Given the description of an element on the screen output the (x, y) to click on. 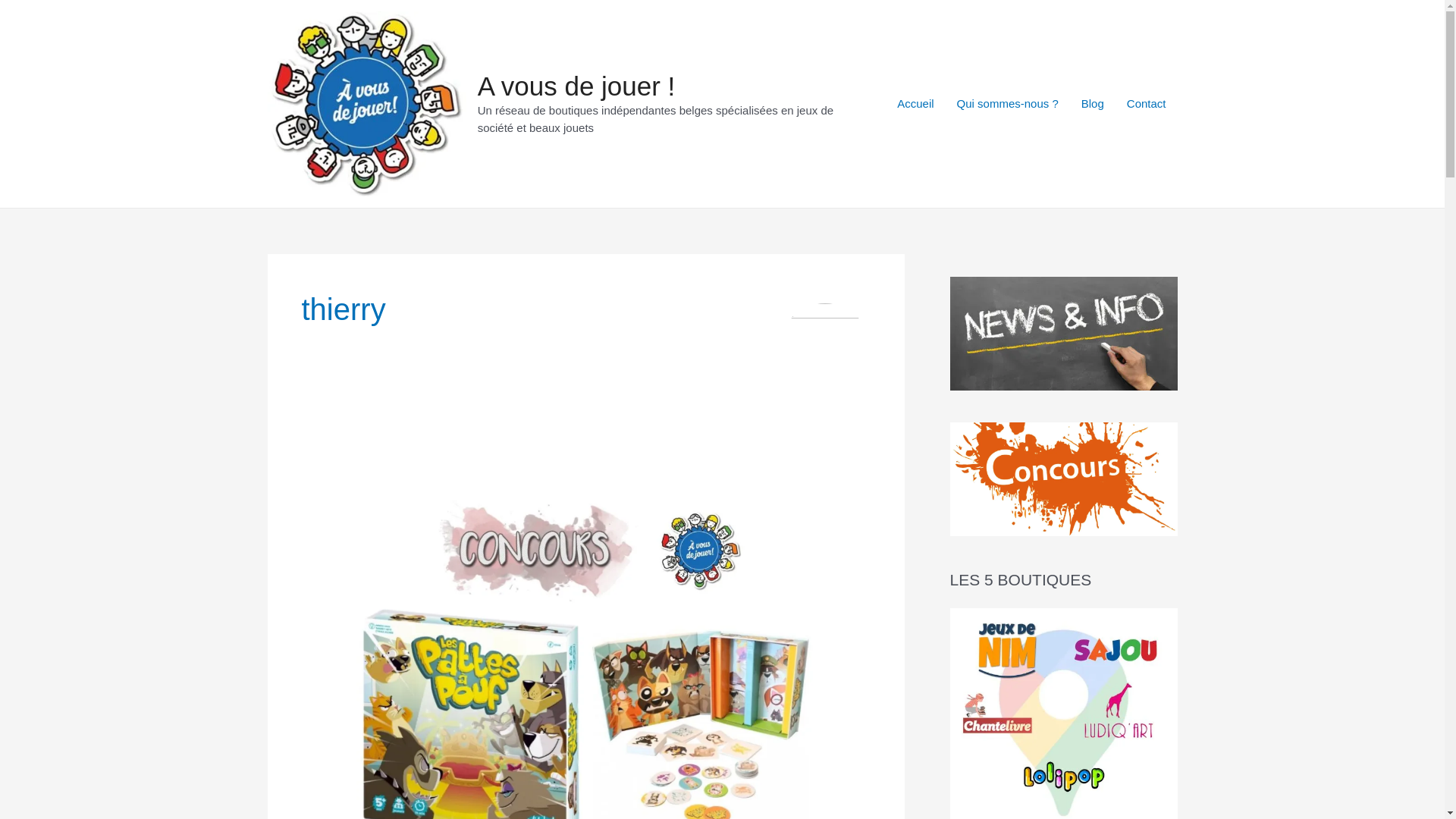
Qui sommes-nous ? Element type: text (1007, 103)
Contact Element type: text (1146, 103)
Blog Element type: text (1092, 103)
Accueil Element type: text (914, 103)
A vous de jouer ! Element type: text (576, 85)
